Given the description of an element on the screen output the (x, y) to click on. 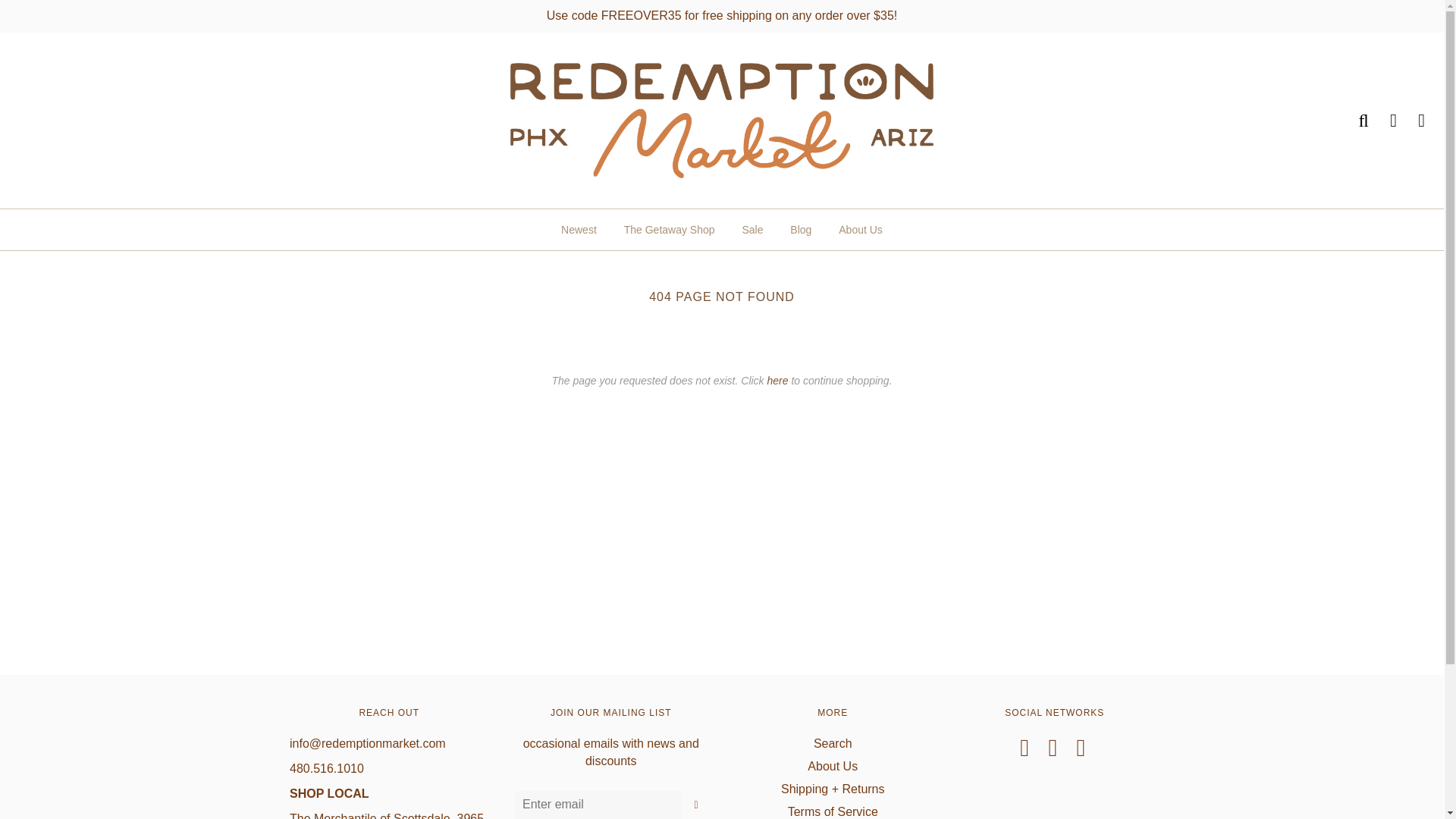
here (778, 380)
Terms of Service (832, 811)
Log in (1383, 120)
Your Cart (1412, 120)
Search (1353, 120)
Blog (800, 229)
The Getaway Shop (669, 229)
Newest (579, 229)
Sale (752, 229)
About Us (832, 766)
Search (832, 743)
About Us (860, 229)
